Given the description of an element on the screen output the (x, y) to click on. 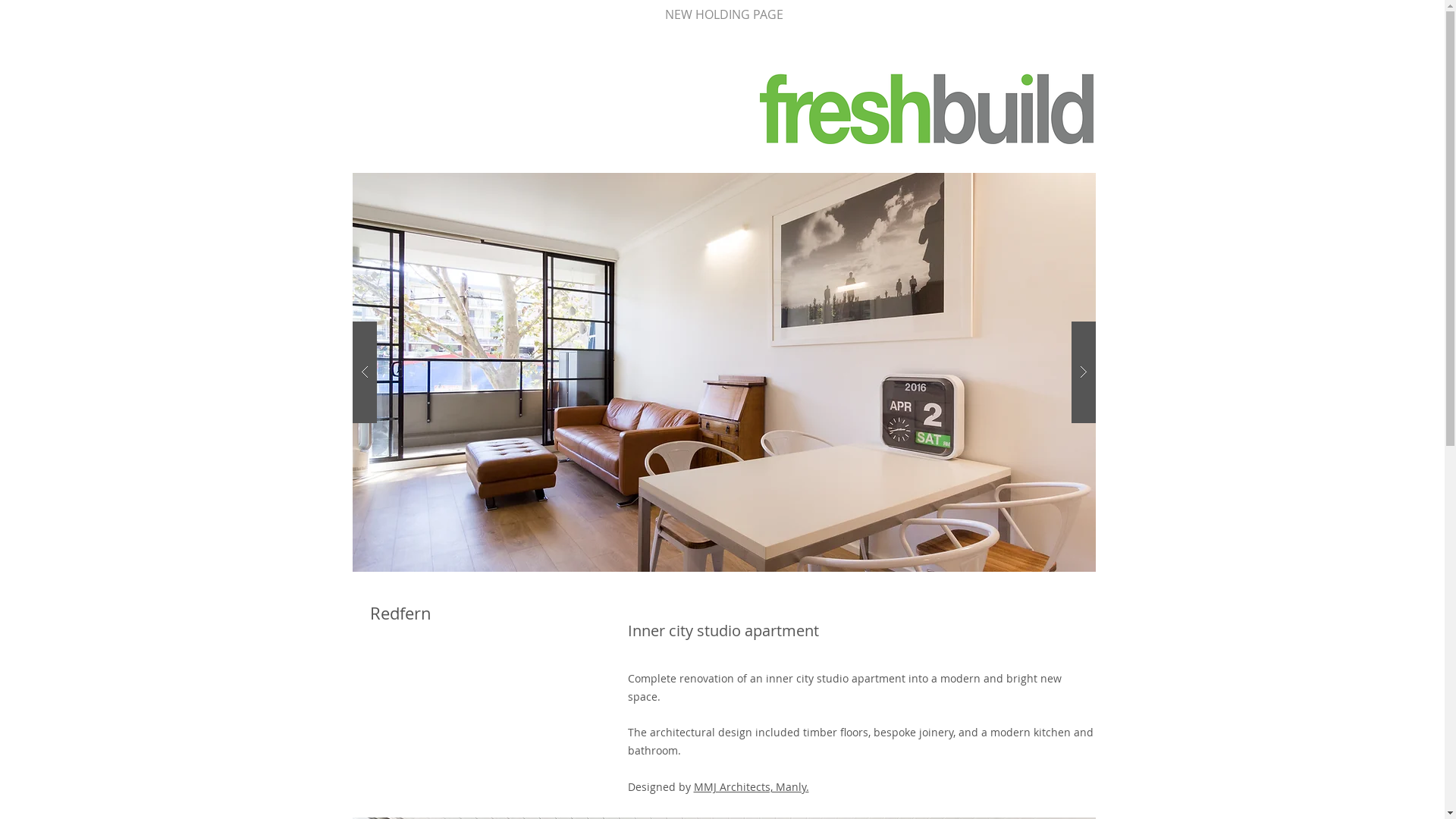
logowebready.png Element type: hover (926, 107)
MMJ Architects, Manly. Element type: text (750, 786)
NEW HOLDING PAGE Element type: text (724, 14)
